Given the description of an element on the screen output the (x, y) to click on. 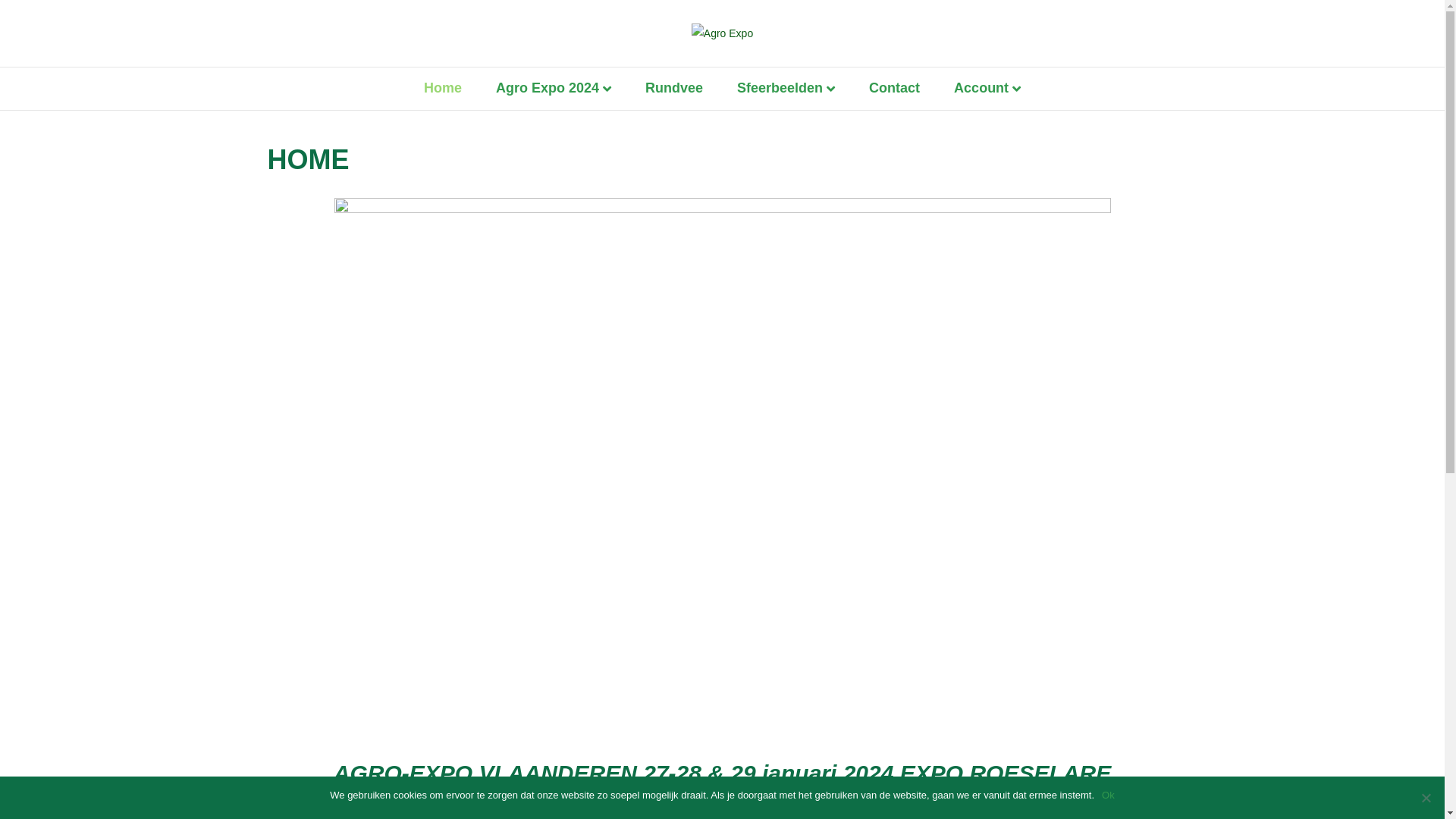
Sfeerbeelden Element type: text (785, 88)
Nee Element type: hover (1425, 797)
Ok Element type: text (1107, 795)
Account Element type: text (986, 88)
Contact Element type: text (894, 88)
Agro Expo 2024 Element type: text (553, 88)
Rundvee Element type: text (674, 88)
Home Element type: text (442, 88)
